Given the description of an element on the screen output the (x, y) to click on. 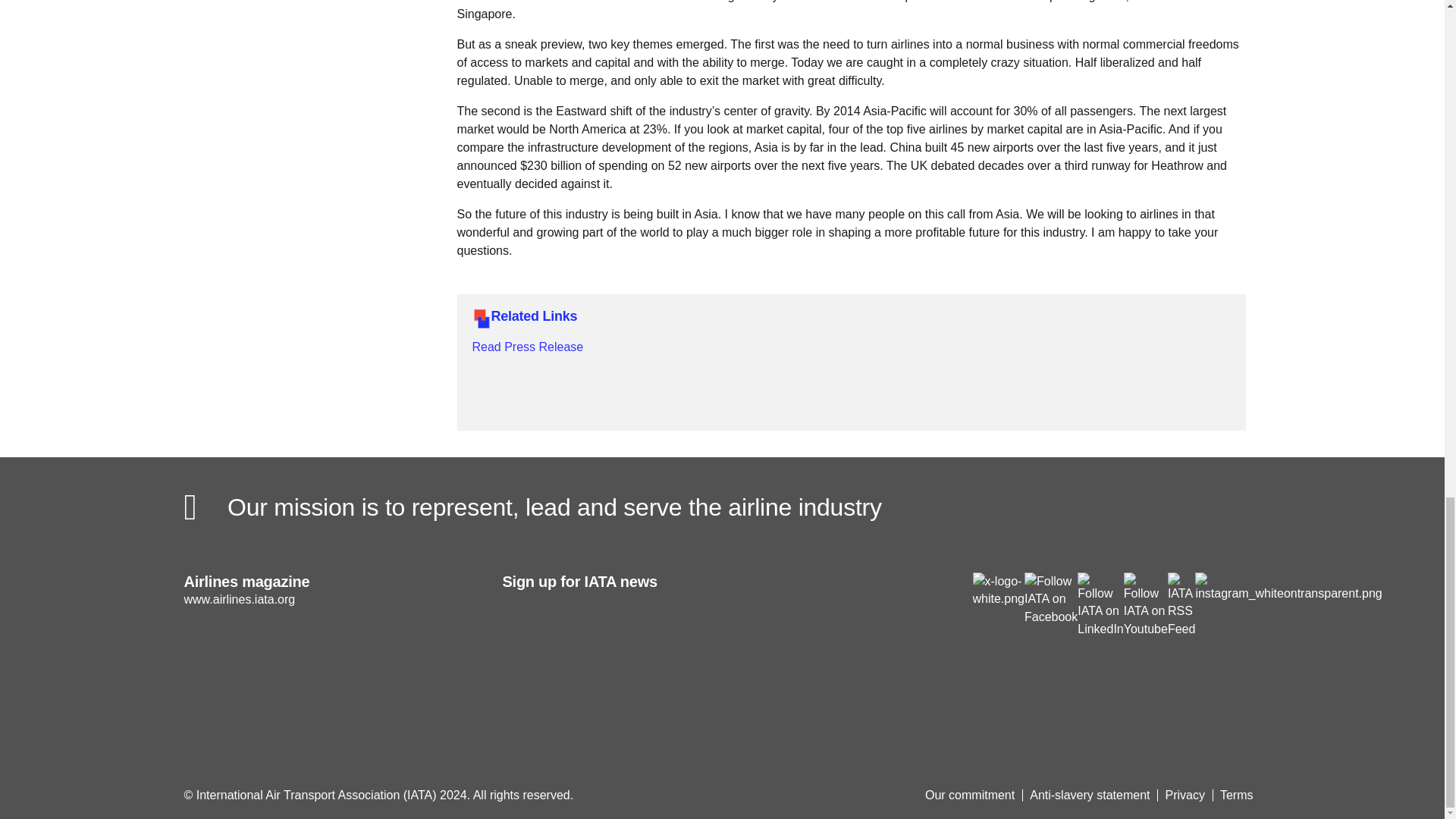
IATA on Youtube (1145, 603)
IATA on Twitter (998, 589)
IATA on Linkedin (1100, 603)
IATA on Facebook (1051, 597)
Sign up for IATA news (653, 634)
IATA on Instagram (1288, 585)
IATA RSS Feed (1181, 603)
